Given the description of an element on the screen output the (x, y) to click on. 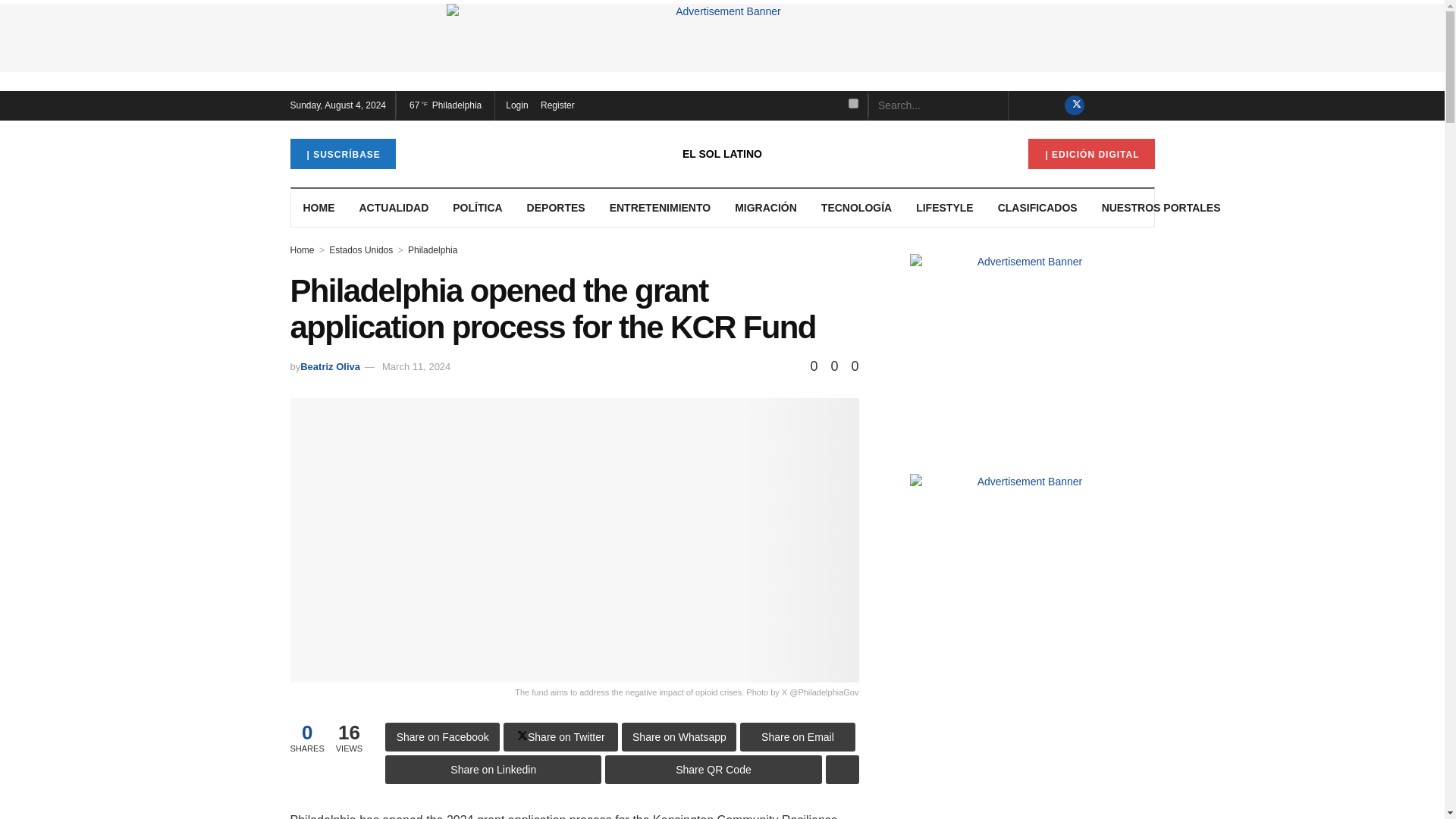
Login (515, 105)
ACTUALIDAD (394, 207)
ENTRETENIMIENTO (659, 207)
DEPORTES (555, 207)
HOME (319, 207)
Register (556, 105)
EL SOL LATINO (721, 152)
on (853, 103)
